Given the description of an element on the screen output the (x, y) to click on. 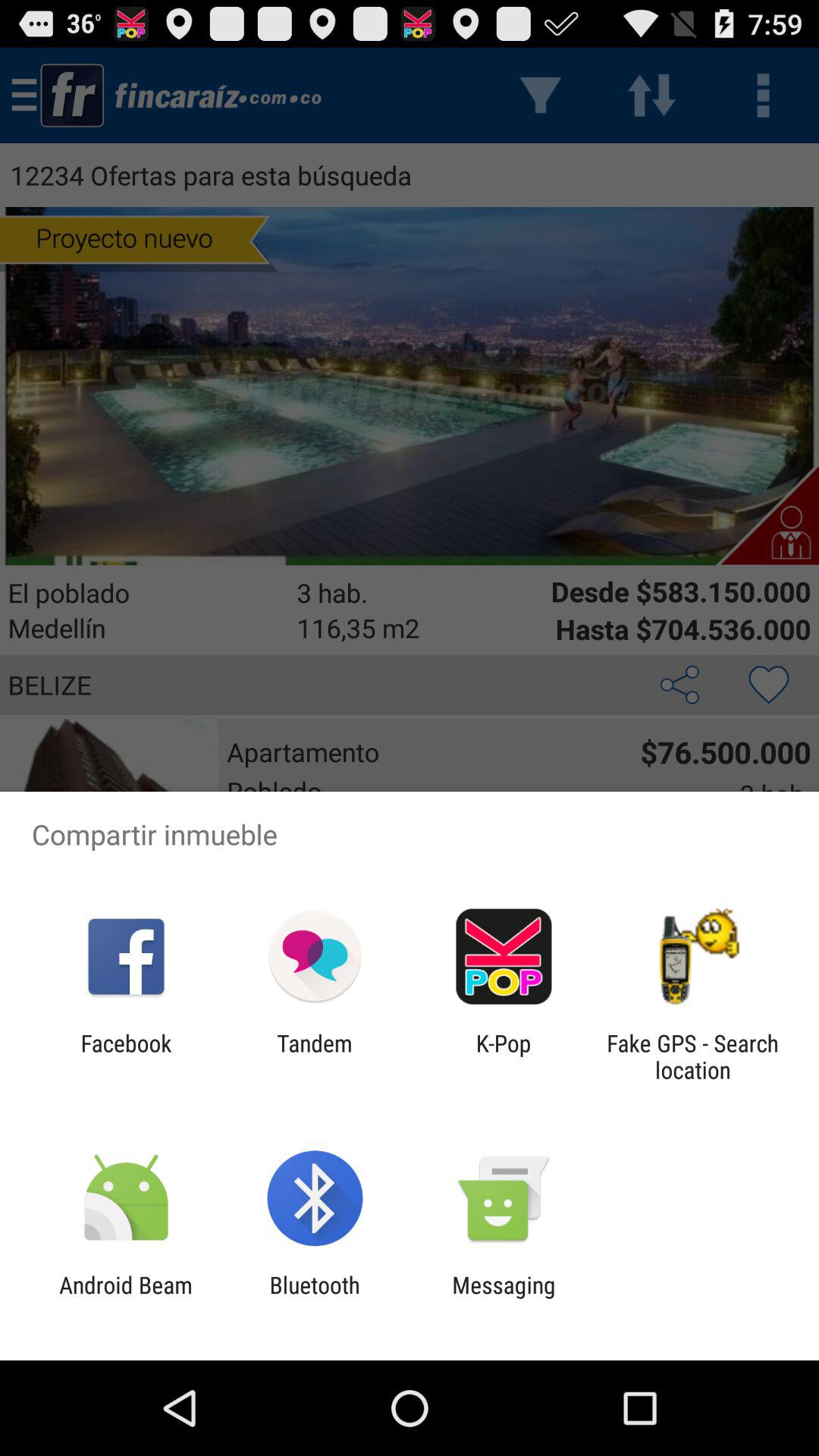
tap icon next to bluetooth app (125, 1298)
